Given the description of an element on the screen output the (x, y) to click on. 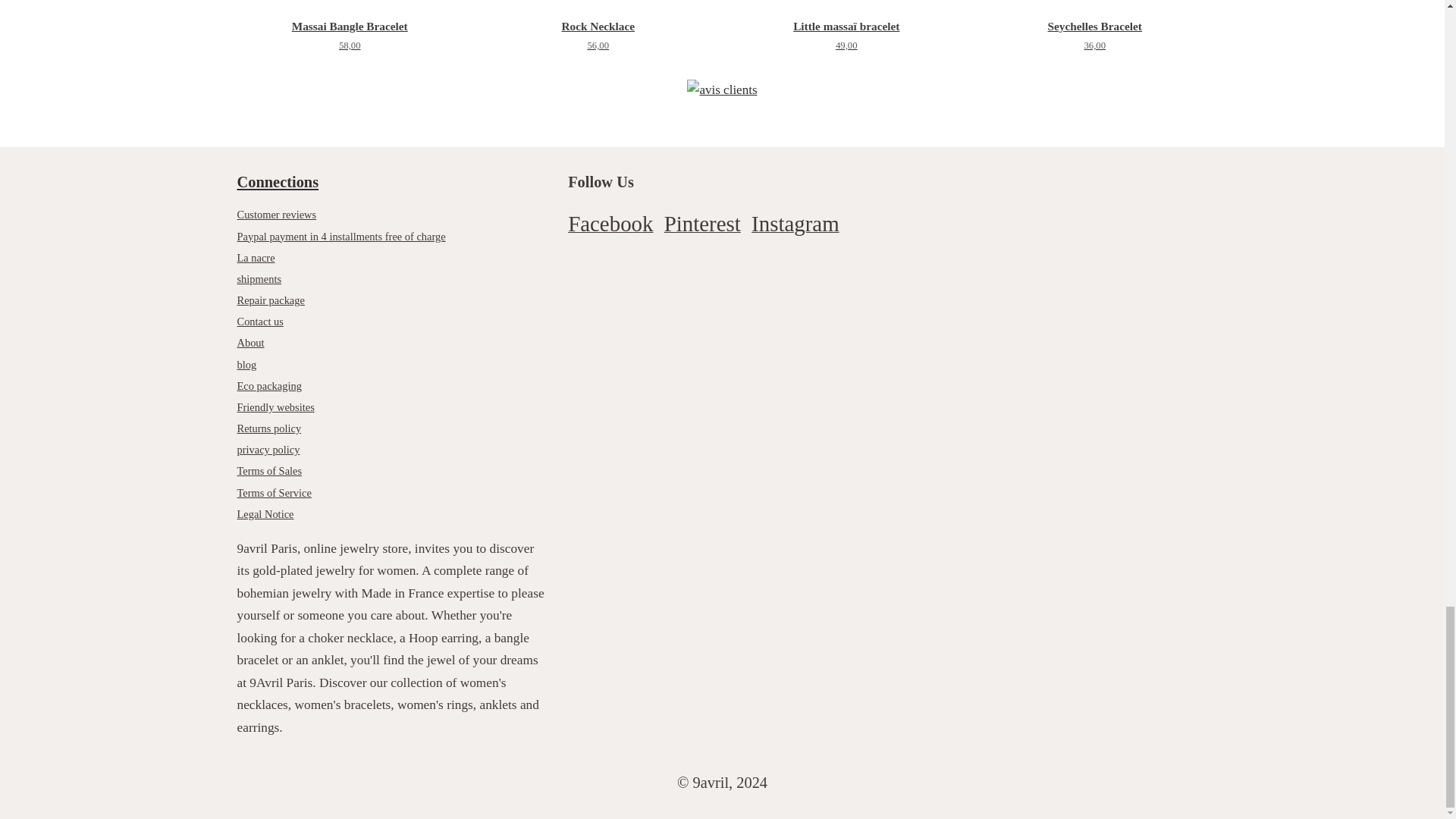
9avril on Pinterest (702, 227)
9avril on Facebook (609, 227)
9avril on Instagram (795, 227)
